Given the description of an element on the screen output the (x, y) to click on. 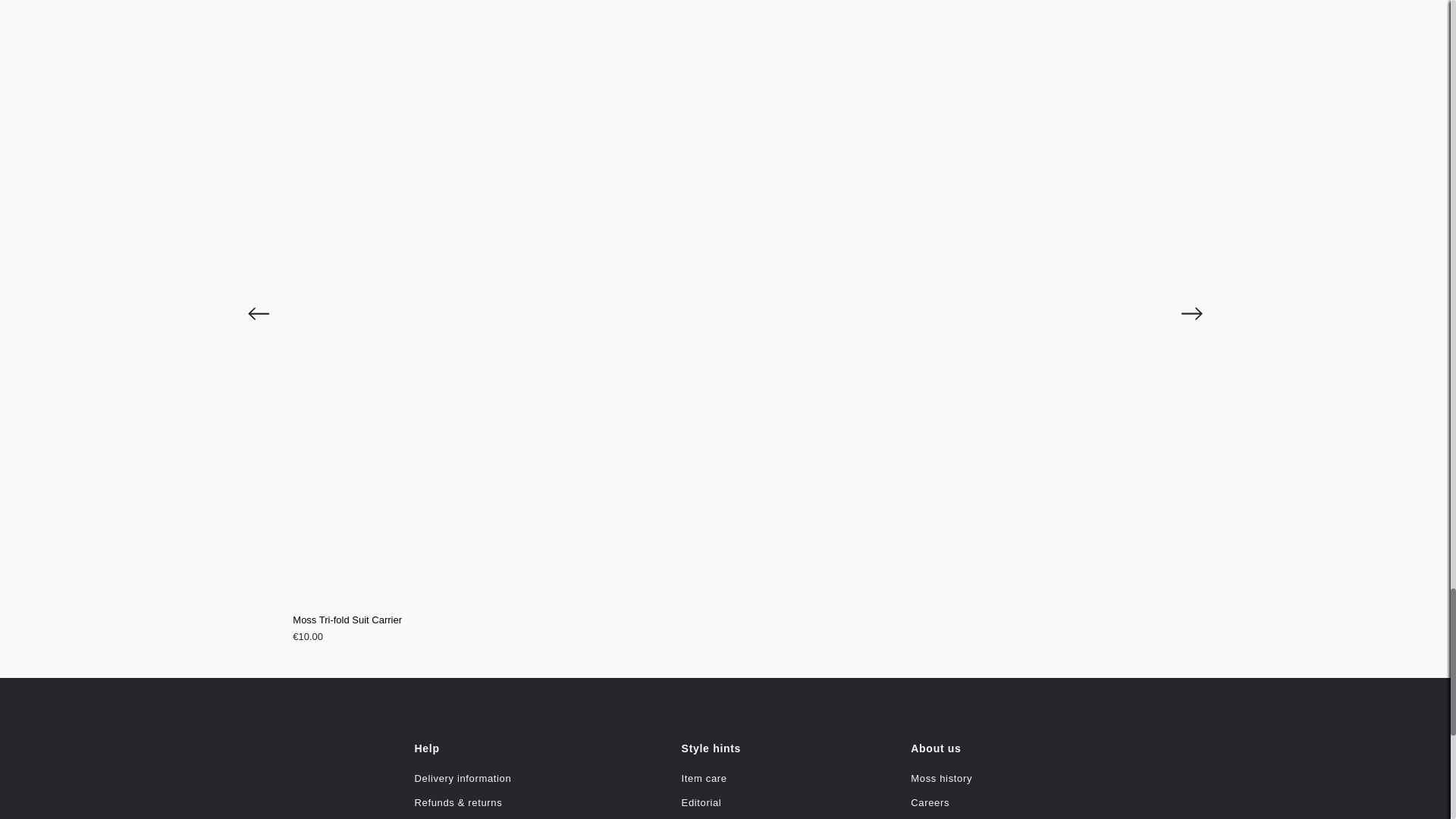
Moss Tri-fold Suit Carrier  966885317 (724, 630)
Moss Tri-fold Suit Carrier  (724, 620)
